Given the description of an element on the screen output the (x, y) to click on. 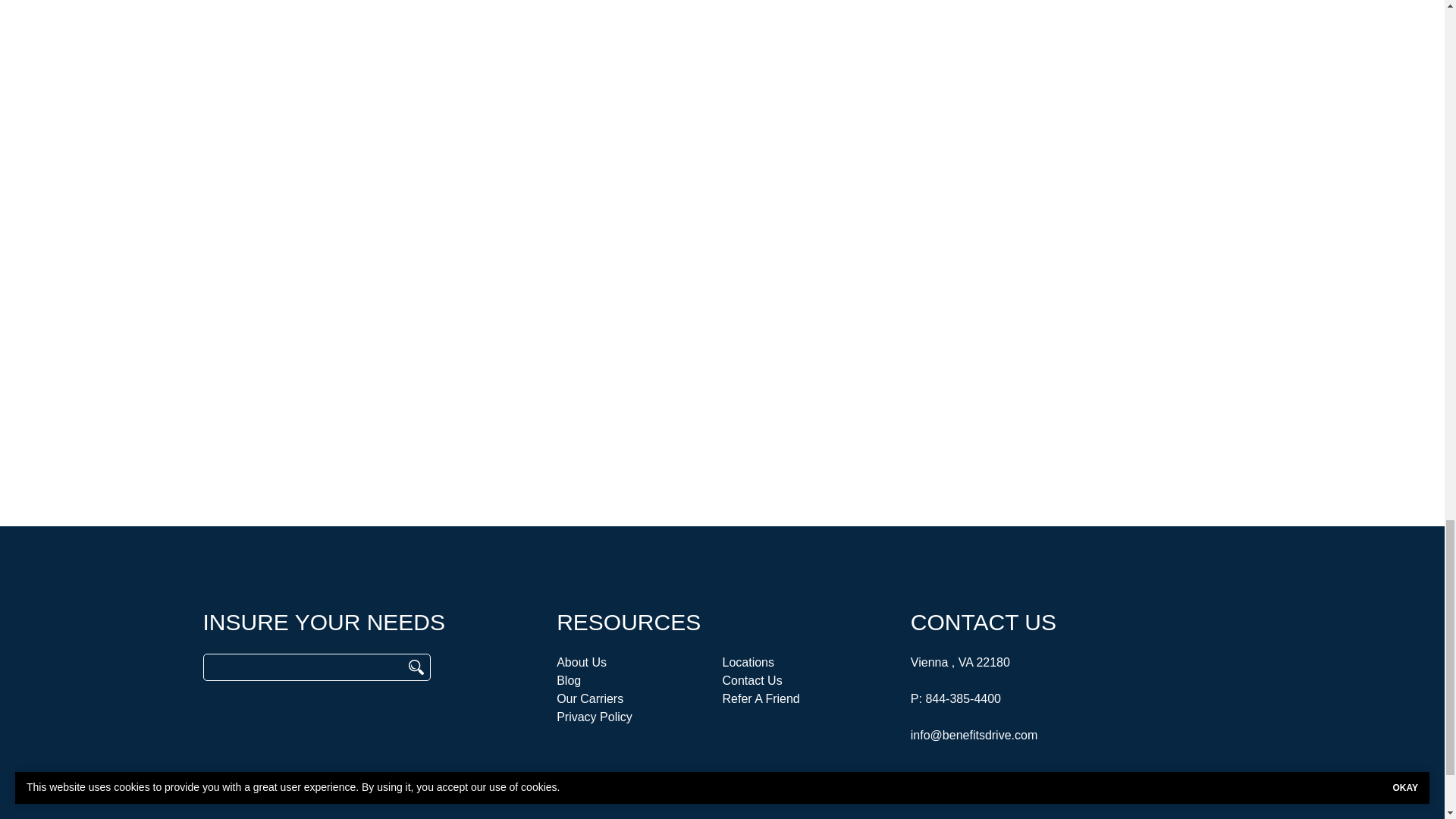
Submit (946, 304)
Search (416, 667)
Search (416, 667)
